Given the description of an element on the screen output the (x, y) to click on. 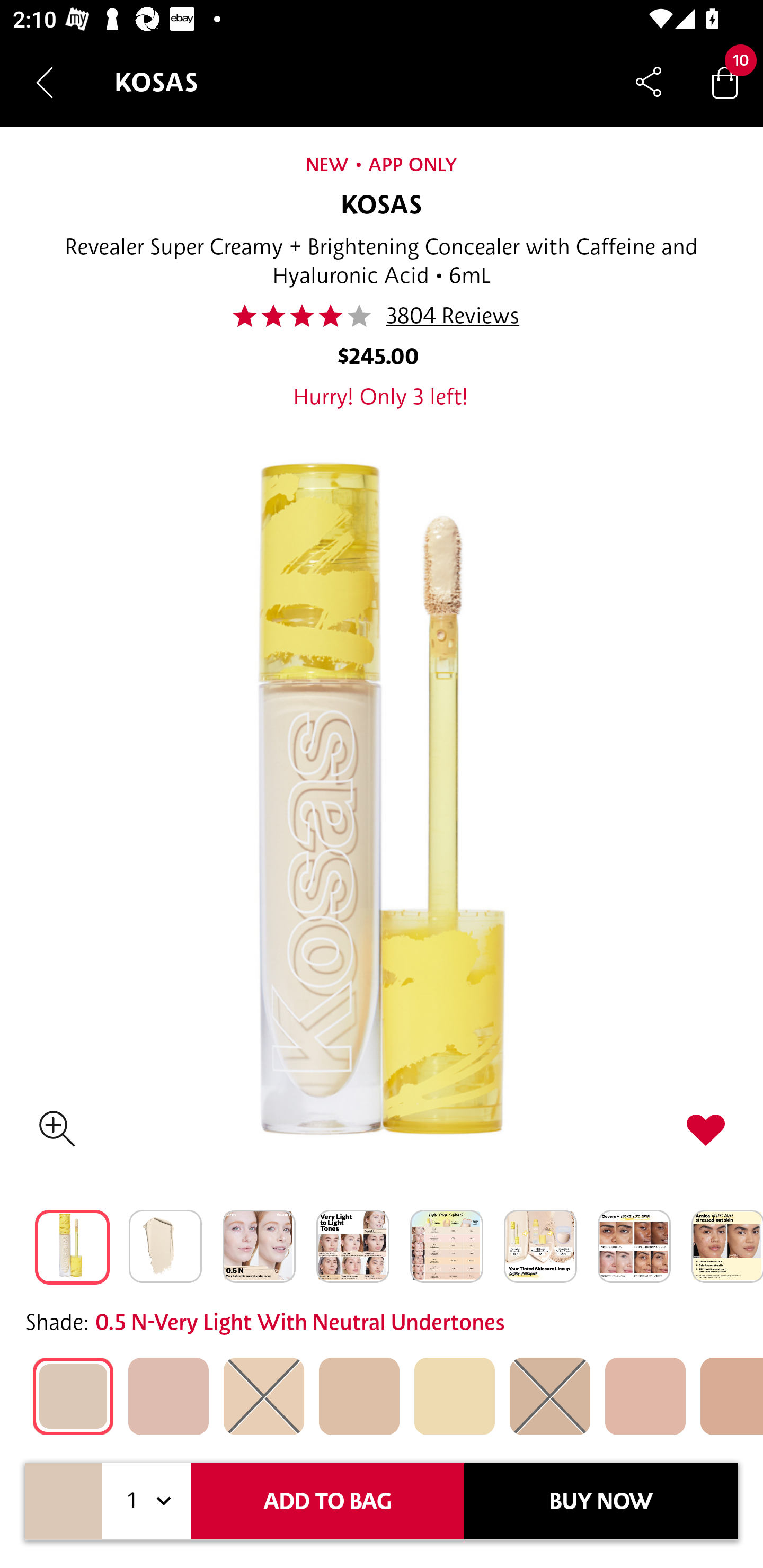
Navigate up (44, 82)
Share (648, 81)
Bag (724, 81)
KOSAS (381, 205)
40.0 3804 Reviews (381, 315)
1 (145, 1500)
ADD TO BAG (326, 1500)
BUY NOW (600, 1500)
